Given the description of an element on the screen output the (x, y) to click on. 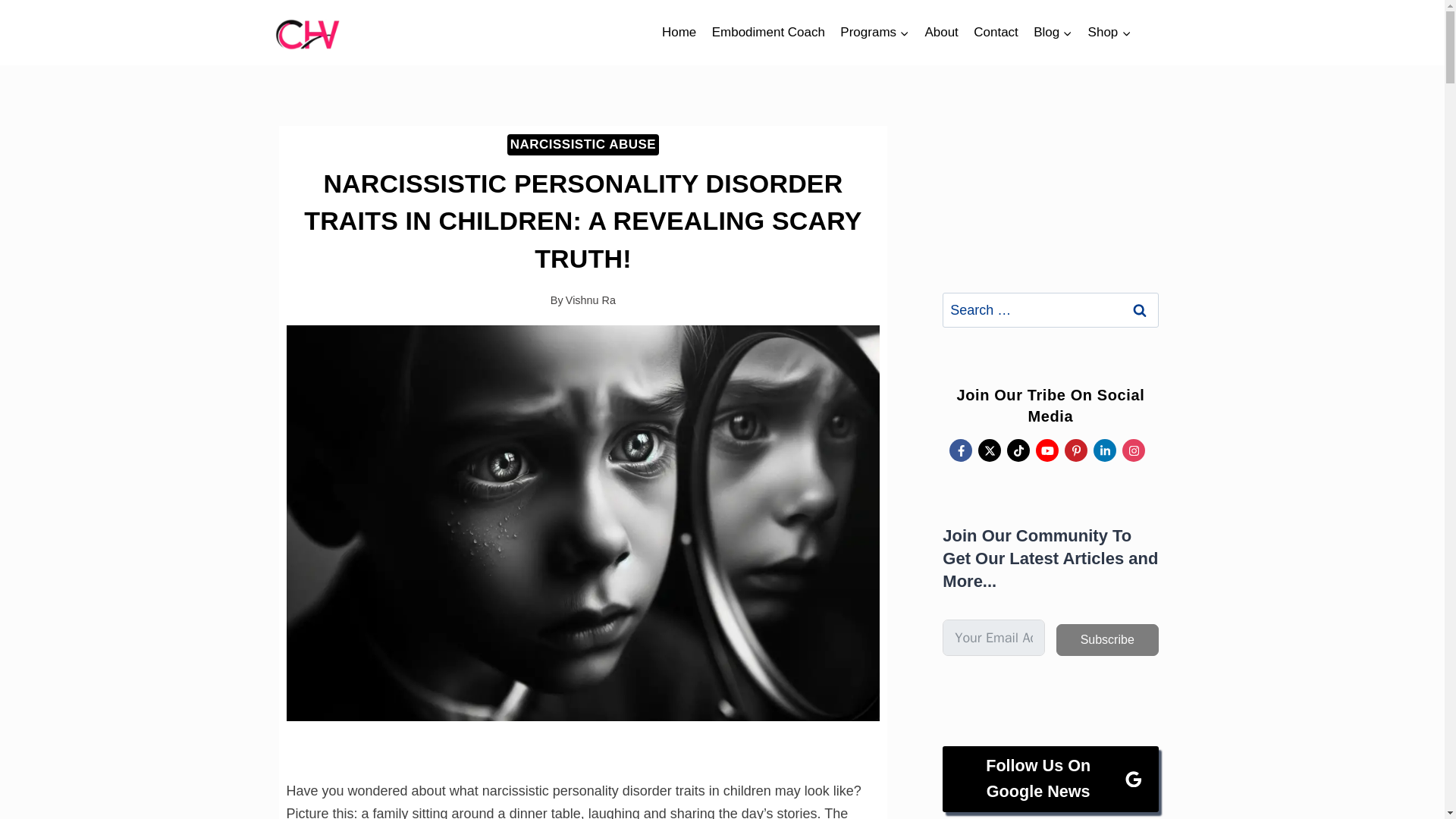
Search (1139, 309)
Home (678, 31)
Shop (1109, 31)
Search (1139, 309)
NARCISSISTIC ABUSE (582, 144)
Contact (996, 31)
Vishnu Ra (590, 300)
Blog (1053, 31)
About (941, 31)
Embodiment Coach (767, 31)
Programs (874, 31)
